Given the description of an element on the screen output the (x, y) to click on. 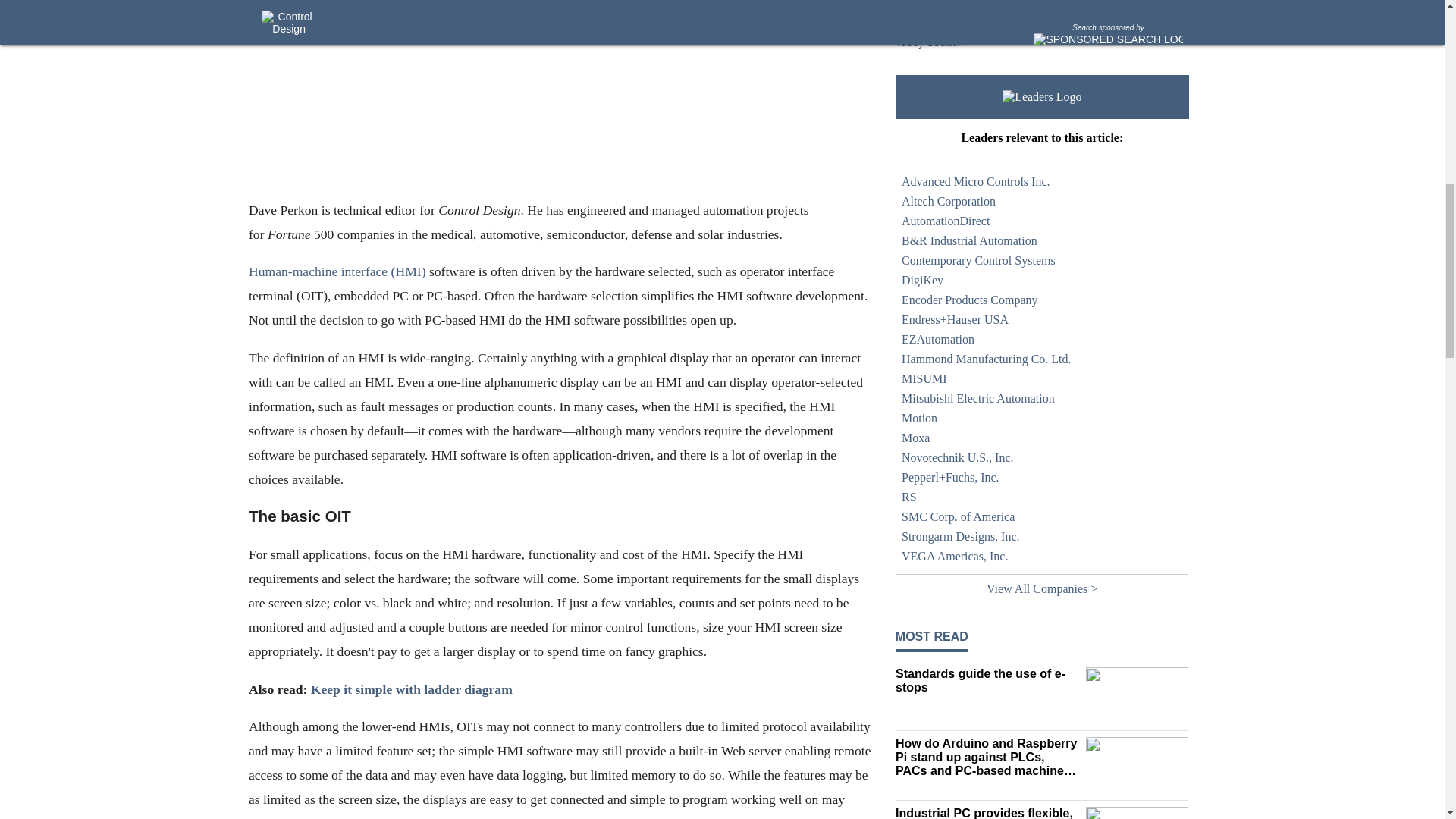
Tobey Strauch (929, 42)
Keep it simple with ladder diagram (411, 688)
HMI (986, 1)
How has the human-machine interface changed? (986, 16)
Dave-Perkon-headshot-online (560, 99)
Altech Corporation (1042, 201)
Advanced Micro Controls Inc. (1042, 181)
